Given the description of an element on the screen output the (x, y) to click on. 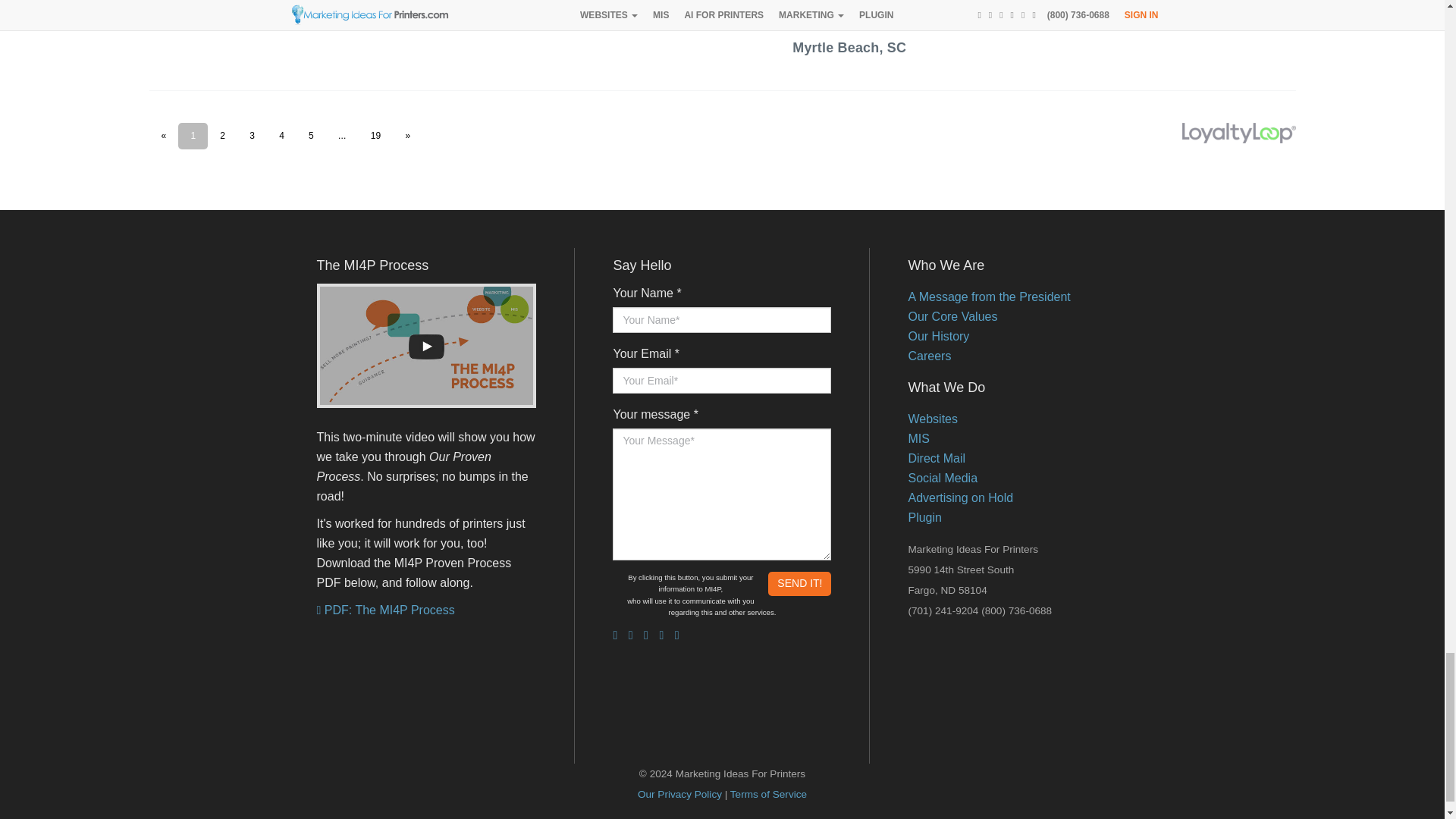
Send it! (799, 583)
